Given the description of an element on the screen output the (x, y) to click on. 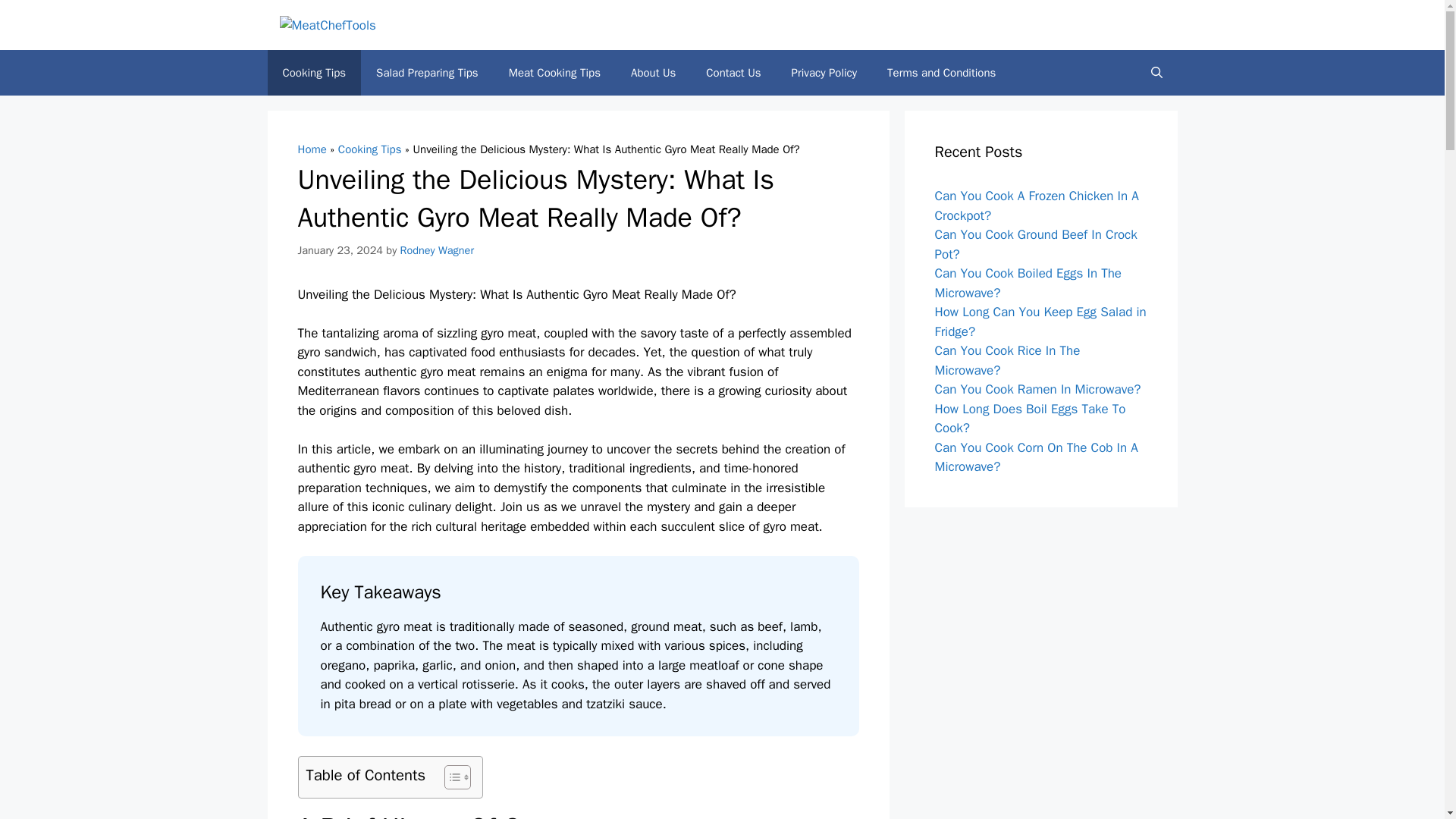
How Long Does Boil Eggs Take To Cook? (1029, 418)
View all posts by Rodney Wagner (437, 250)
How Long Can You Keep Egg Salad in Fridge? (1039, 321)
Meat Cooking Tips (554, 72)
Rodney Wagner (437, 250)
Contact Us (733, 72)
Salad Preparing Tips (427, 72)
Can You Cook Ramen In Microwave? (1037, 389)
Can You Cook Ground Beef In Crock Pot? (1035, 244)
Can You Cook Boiled Eggs In The Microwave? (1027, 283)
